Given the description of an element on the screen output the (x, y) to click on. 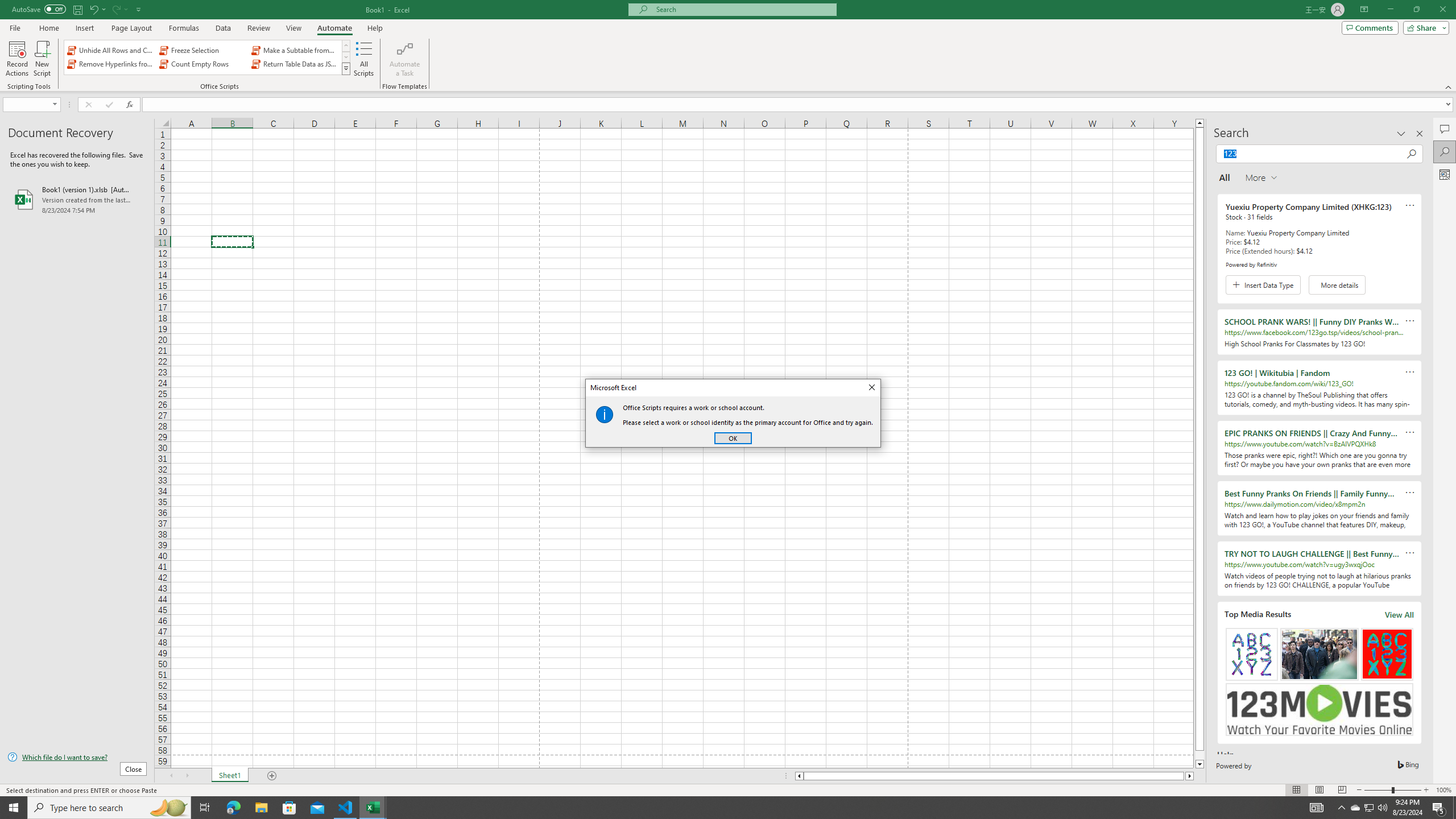
Return Table Data as JSON (294, 64)
Notification Chevron (1355, 807)
User Promoted Notification Area (1341, 807)
